Given the description of an element on the screen output the (x, y) to click on. 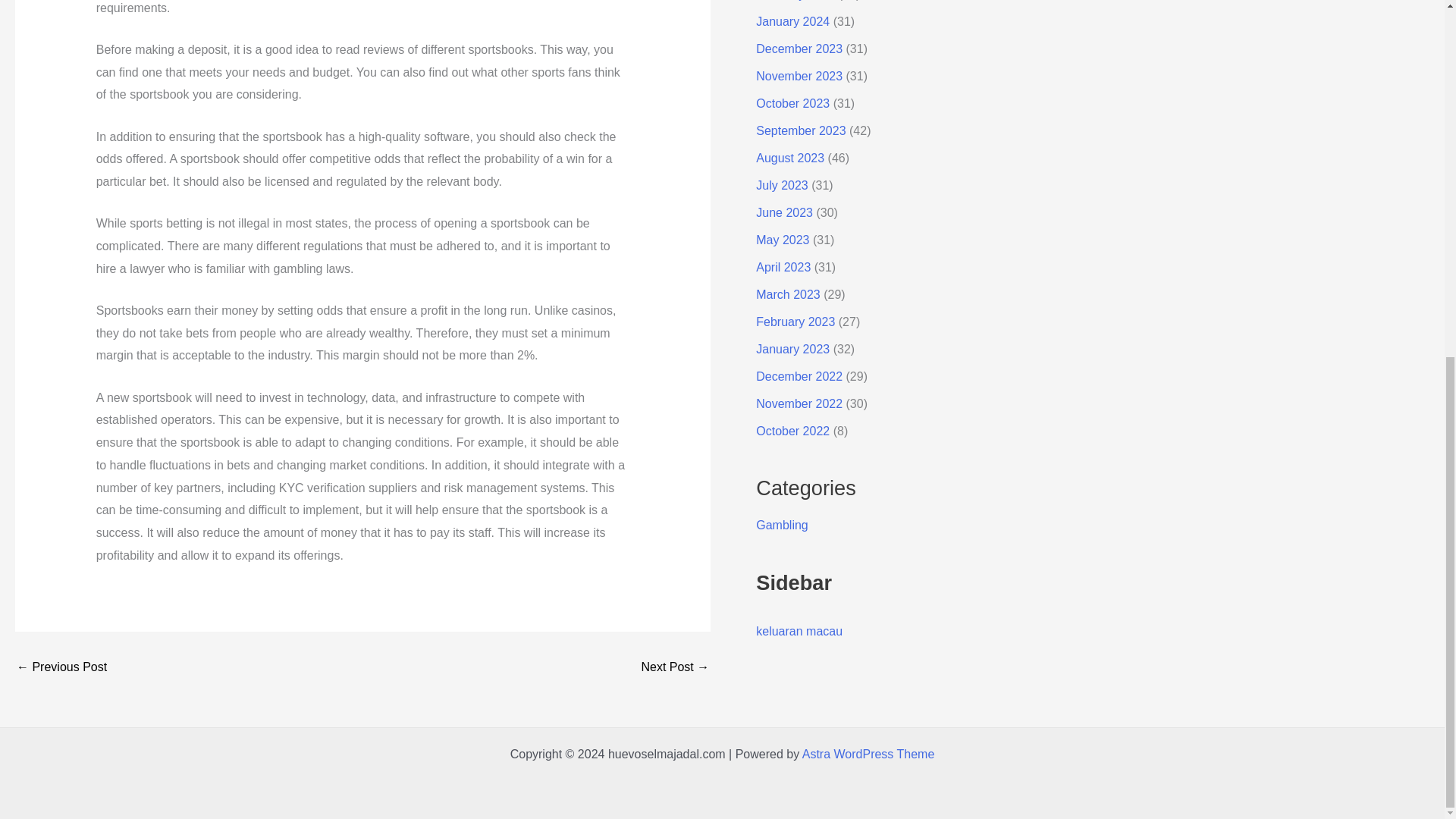
How to Choose a Slot Machine (61, 666)
August 2023 (789, 157)
Learn the Basics of Poker (674, 666)
November 2023 (799, 75)
January 2024 (792, 21)
November 2022 (799, 403)
March 2023 (788, 294)
Astra WordPress Theme (868, 753)
September 2023 (800, 130)
